Given the description of an element on the screen output the (x, y) to click on. 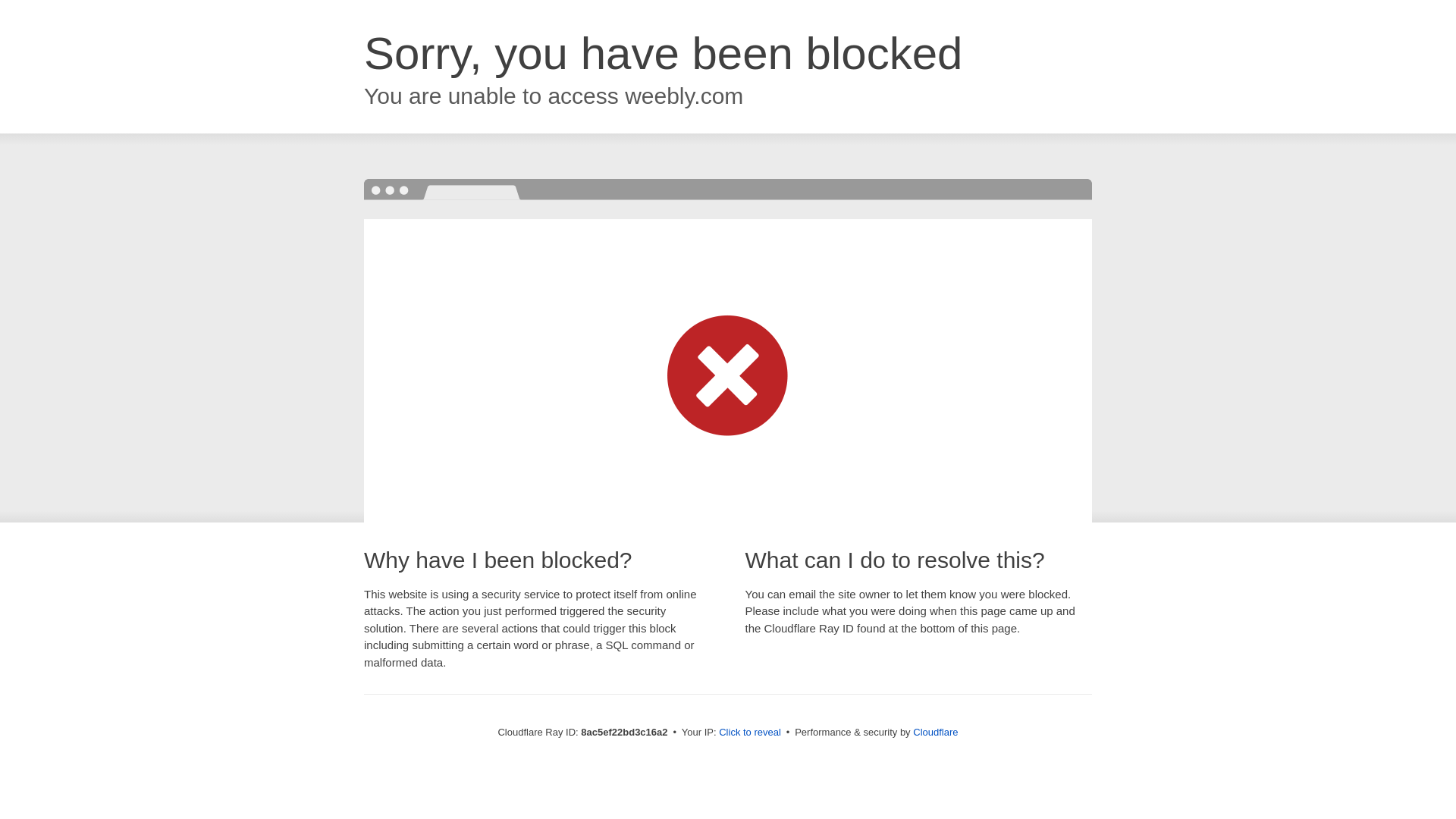
Click to reveal (749, 732)
Cloudflare (935, 731)
